Given the description of an element on the screen output the (x, y) to click on. 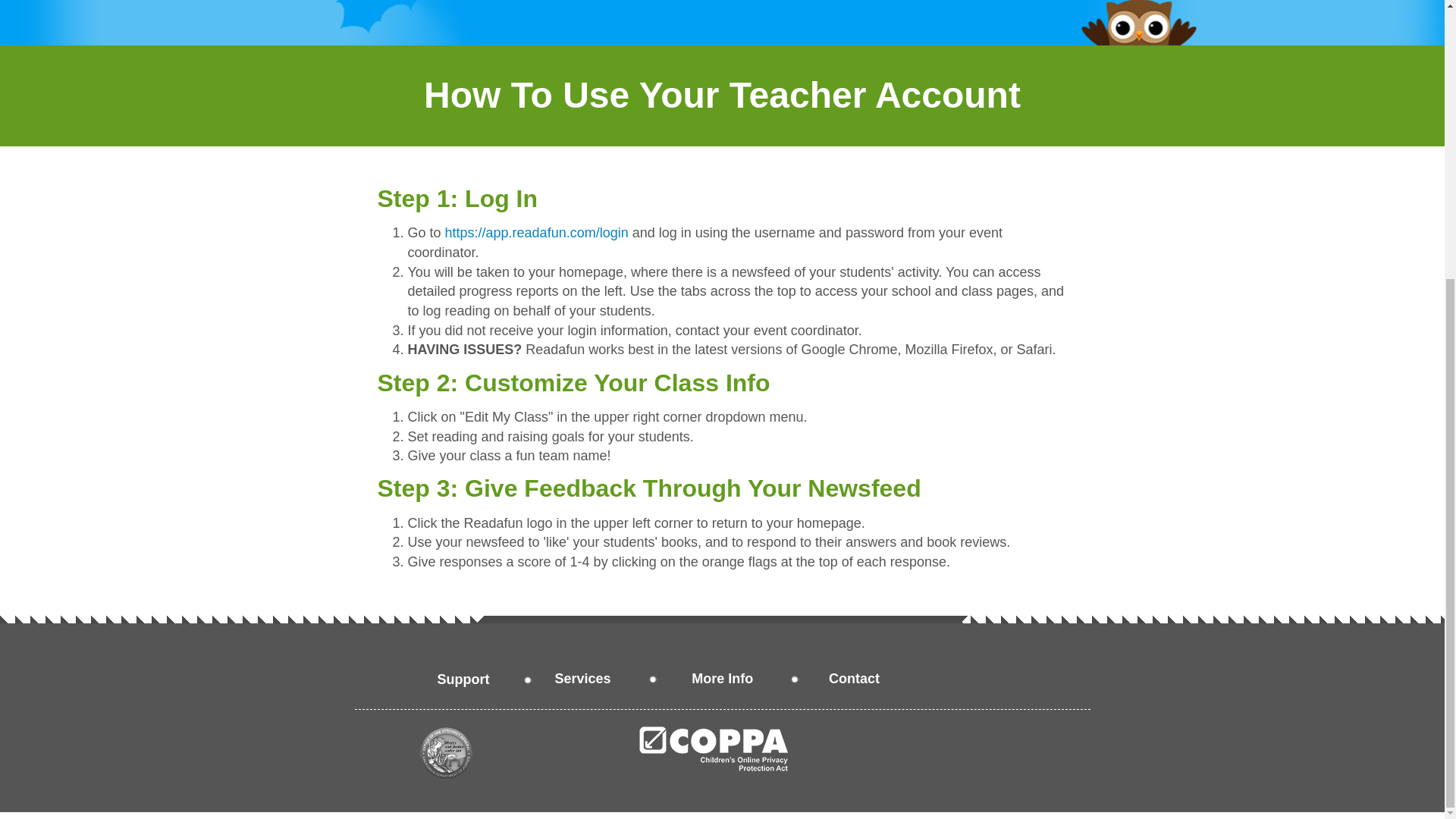
Support (462, 677)
Contact (853, 676)
More Info (721, 676)
Services (582, 676)
